Given the description of an element on the screen output the (x, y) to click on. 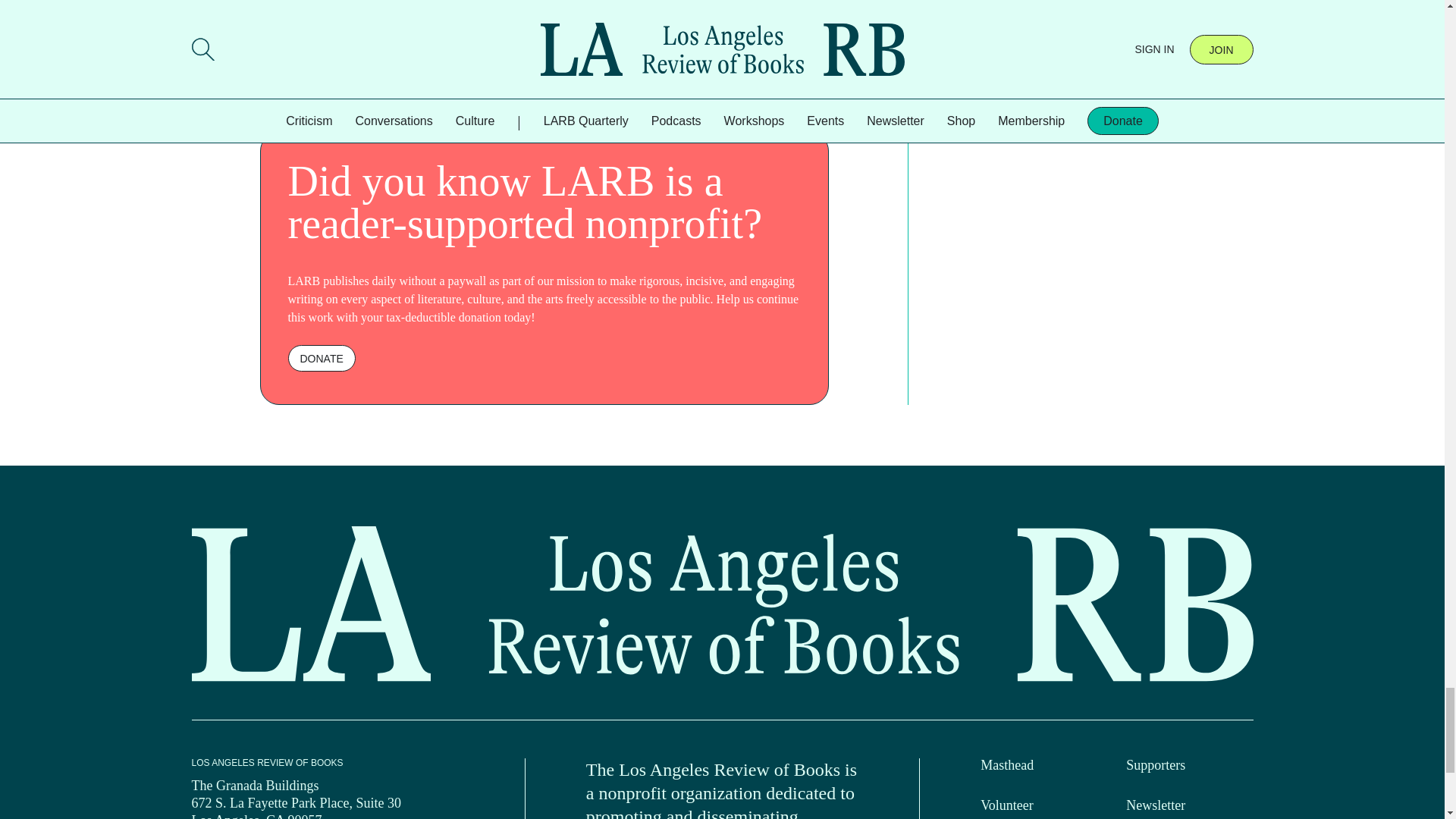
ALEX DIMITROV (294, 56)
DONATE (321, 357)
LYNN MELNICK (368, 56)
